Given the description of an element on the screen output the (x, y) to click on. 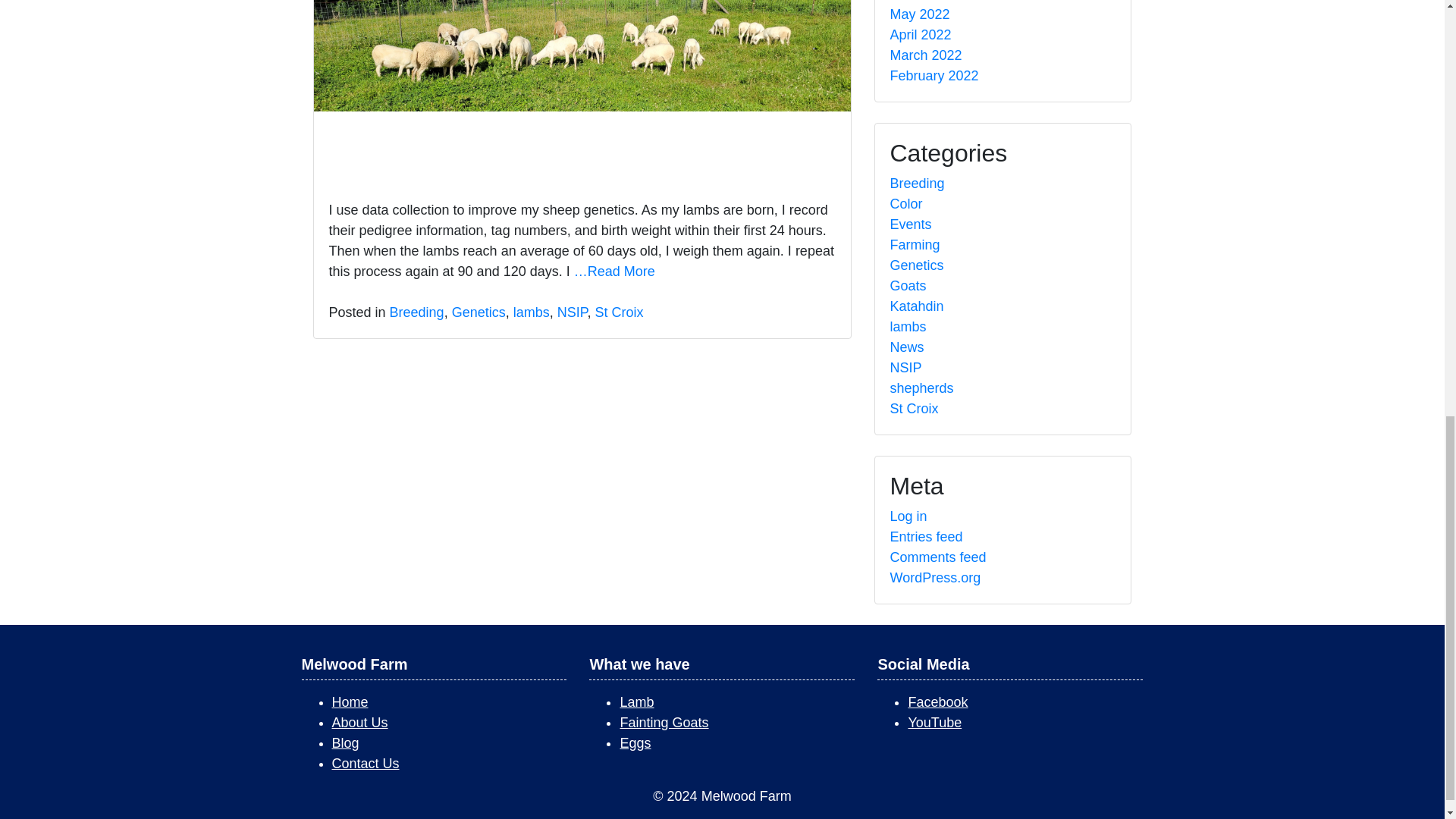
NSIP (572, 312)
Genetics (478, 312)
St Croix (618, 312)
Breeding (417, 312)
lambs (531, 312)
